Given the description of an element on the screen output the (x, y) to click on. 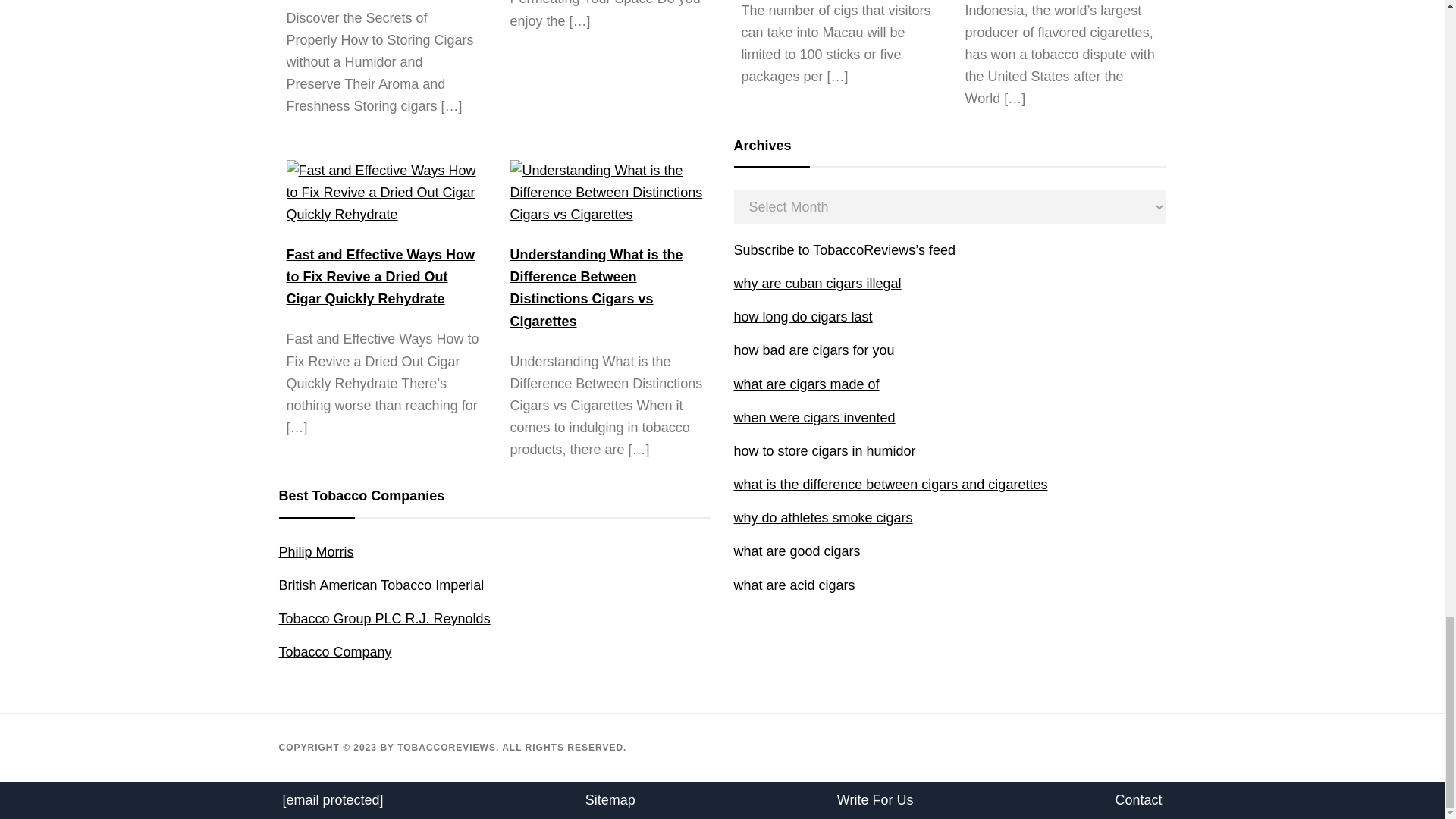
philip morris online (316, 551)
